Given the description of an element on the screen output the (x, y) to click on. 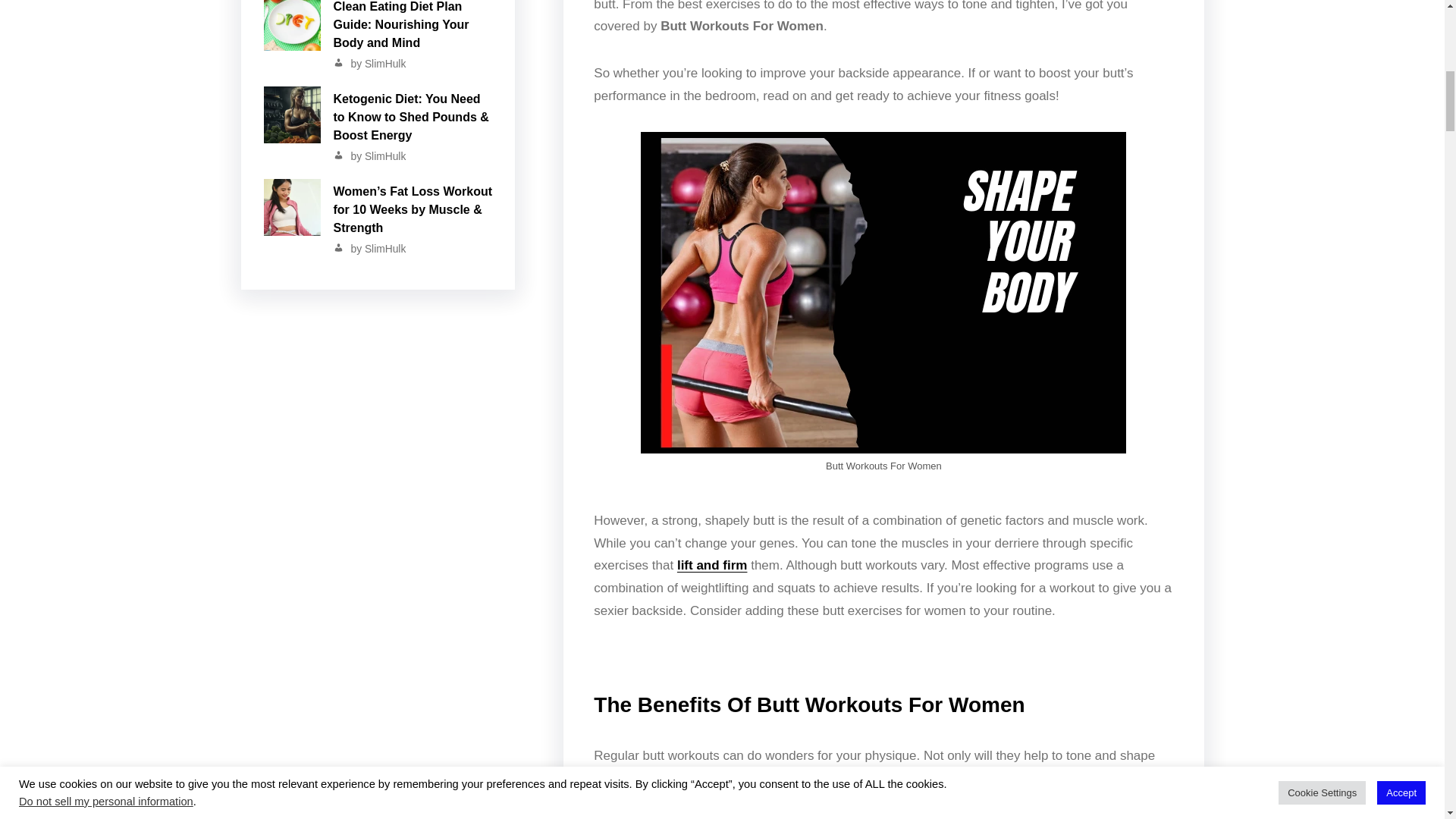
a great-looking butt (865, 806)
Clean Eating Diet Plan Guide: Nourishing Your Body and Mind (378, 50)
lift and firm (712, 564)
